Given the description of an element on the screen output the (x, y) to click on. 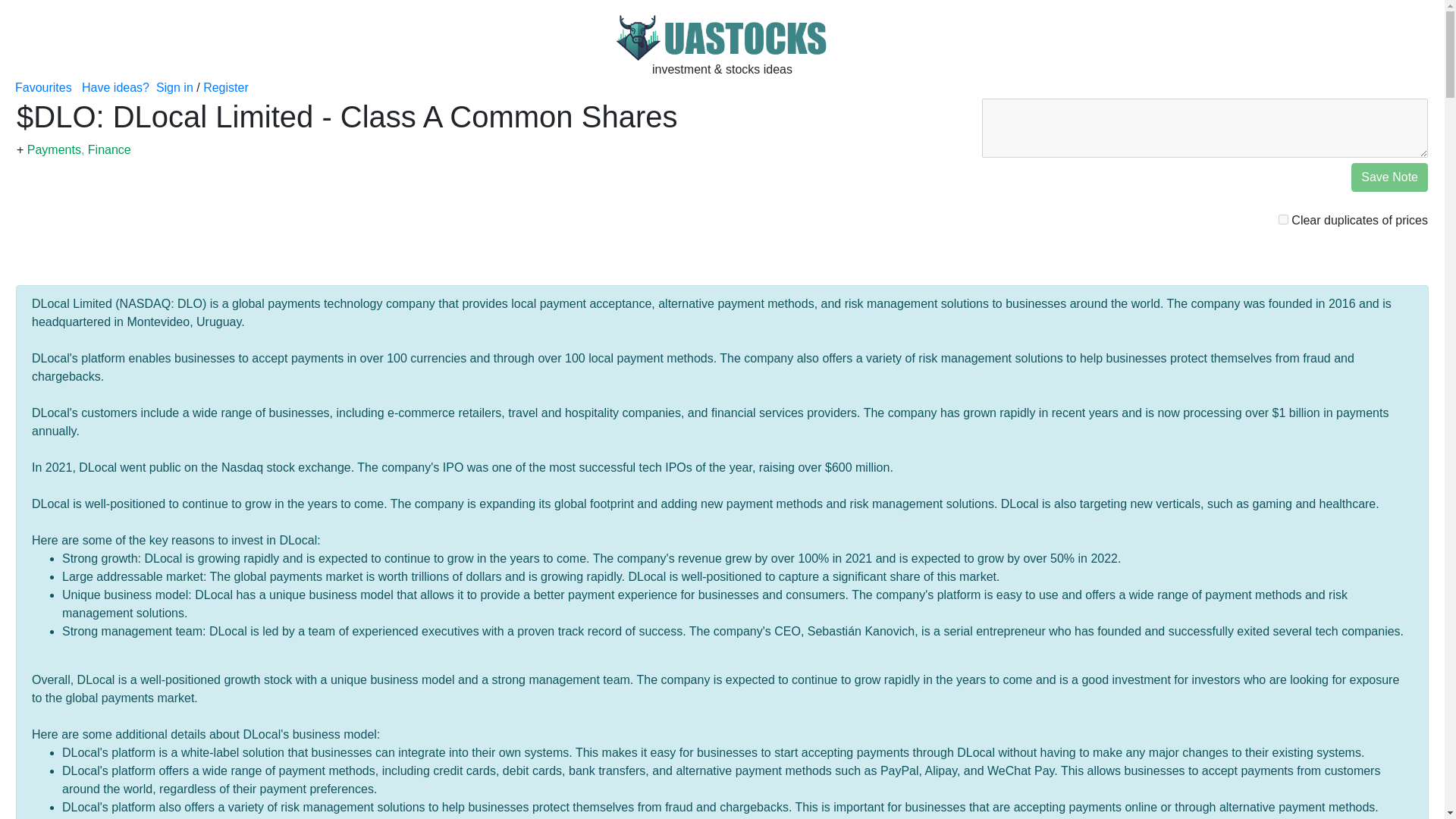
Register (225, 87)
Have ideas? (115, 87)
Sign in (174, 87)
Finance (109, 149)
Save Note (1389, 176)
Favourites (42, 87)
Payments (54, 149)
Save Note (1389, 176)
on (1283, 219)
